Given the description of an element on the screen output the (x, y) to click on. 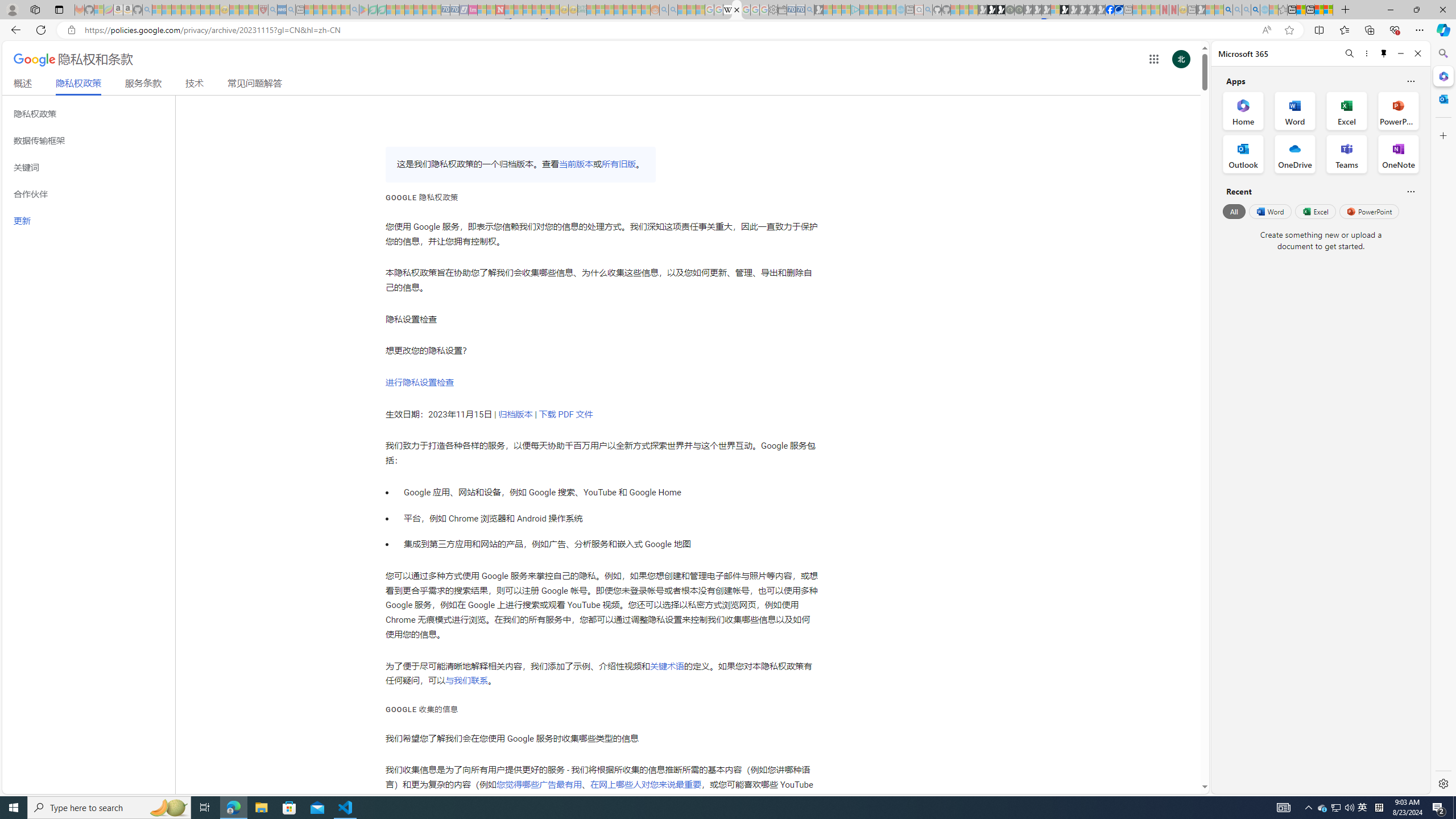
All (1233, 210)
